Given the description of an element on the screen output the (x, y) to click on. 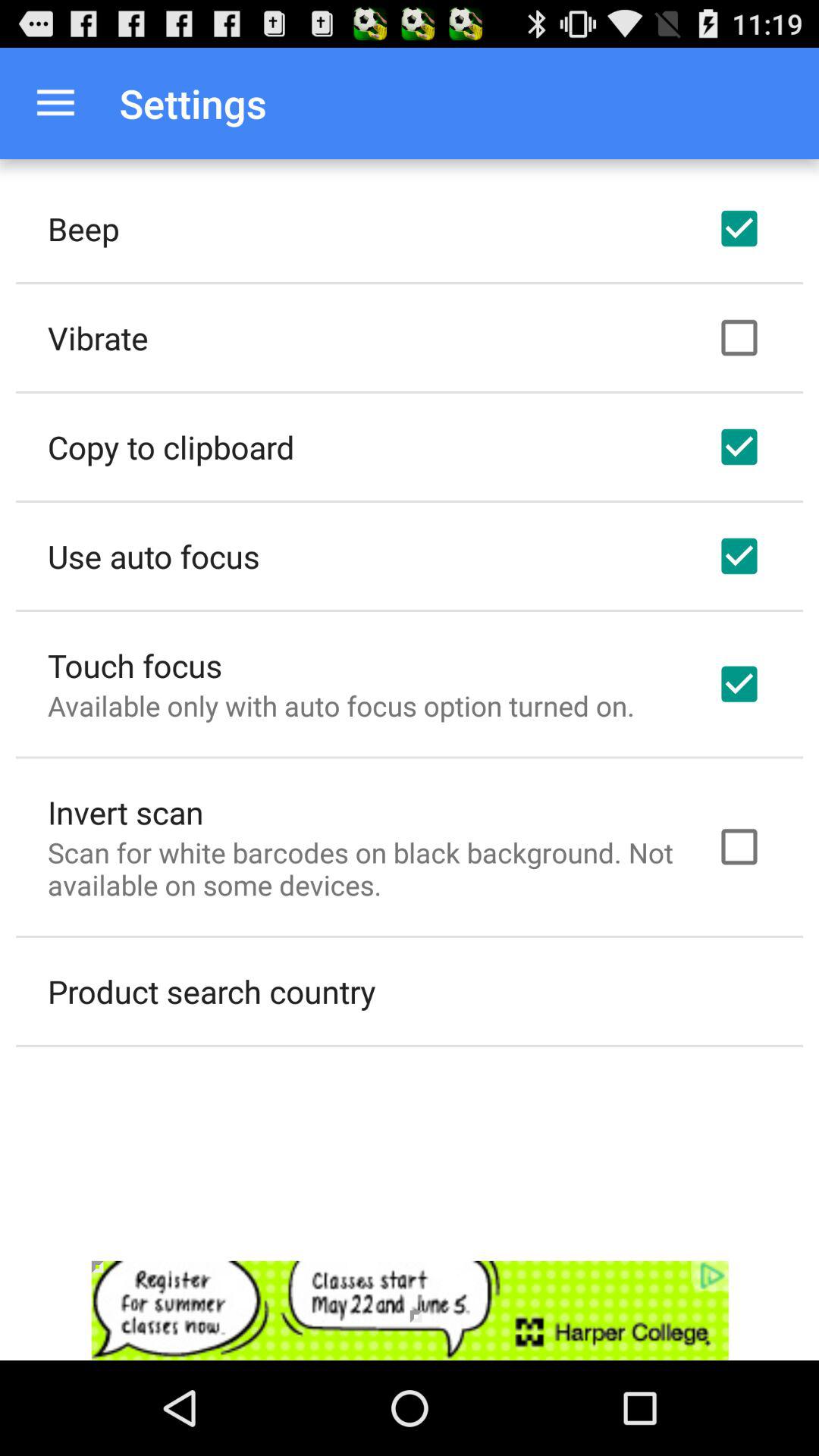
click on the icon right to touch focus (739, 684)
select the sixth check box which is after invert scan on page (739, 847)
click the check box symbol which is next to copy to clipboard (739, 446)
go to toggle button on fourth option (739, 556)
